Given the description of an element on the screen output the (x, y) to click on. 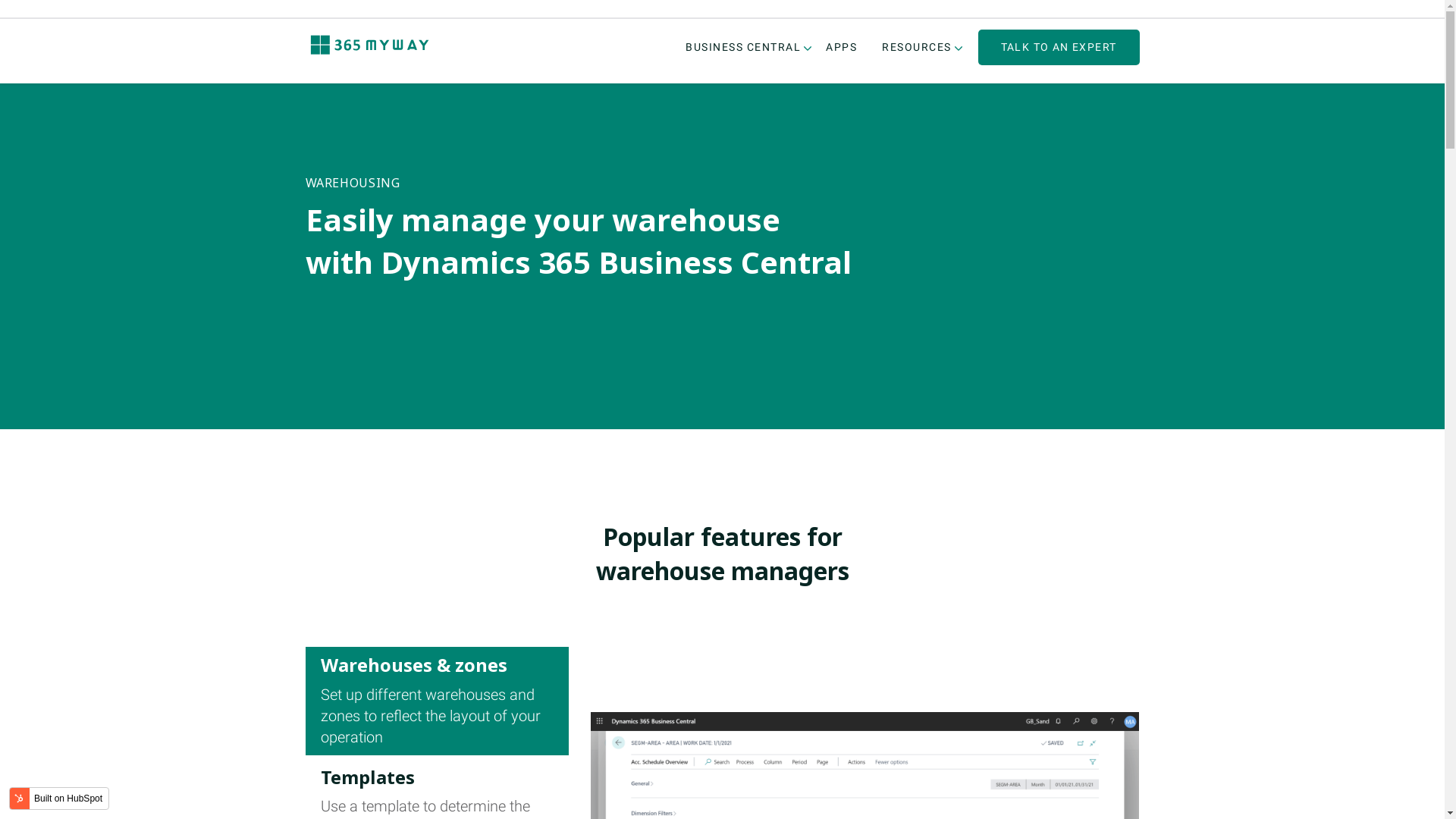
TALK TO AN EXPERT Element type: text (1058, 47)
RESOURCES Element type: text (916, 46)
BUSINESS CENTRAL Element type: text (742, 46)
365Myway - Logo - Green + icon-1 Element type: hover (369, 45)
APPS Element type: text (840, 46)
